Given the description of an element on the screen output the (x, y) to click on. 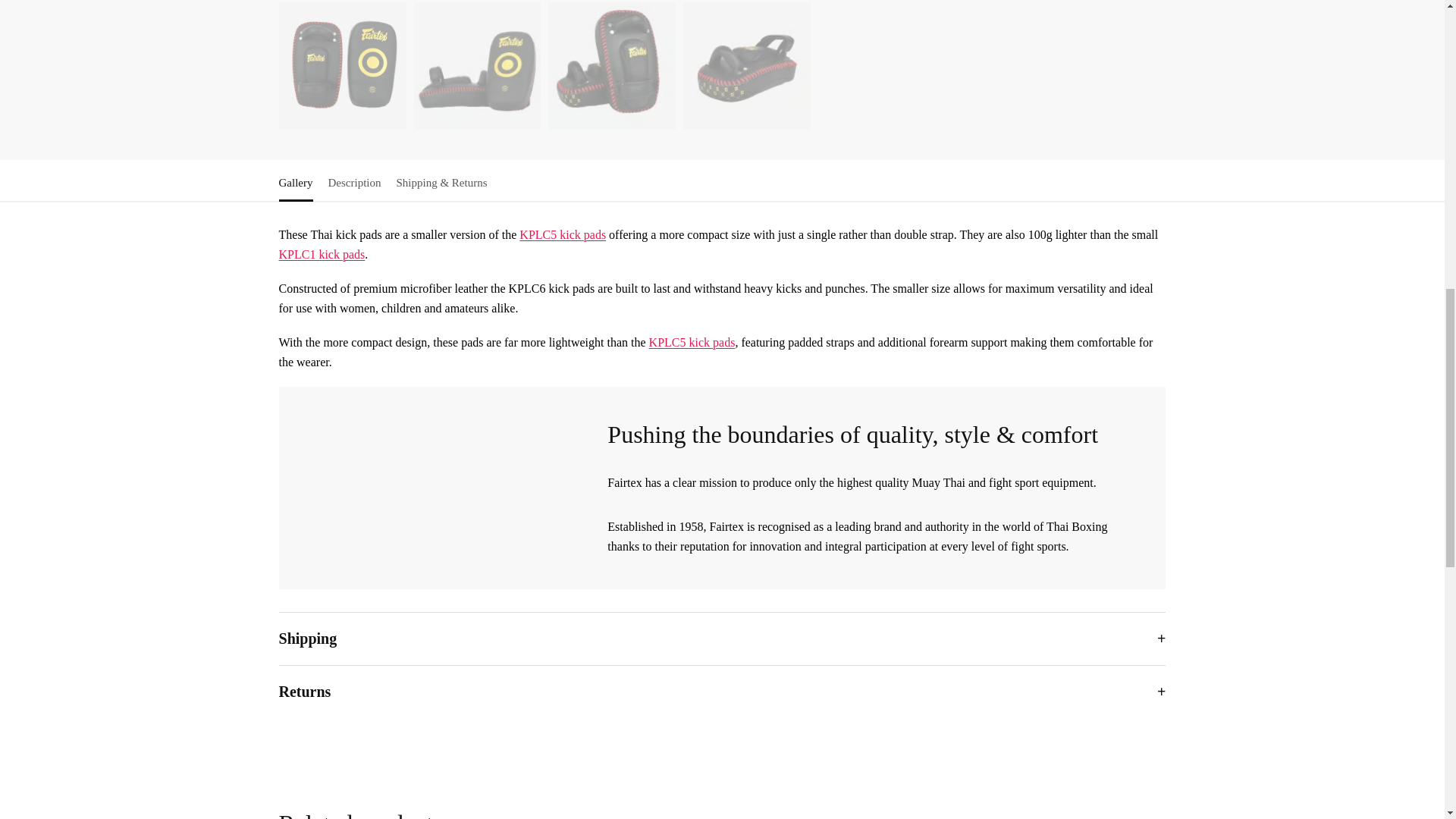
ca5c-kplc6-0-1-960x960-1 (342, 65)
a43f-kplc6-2-0-1-960x960-1 (477, 65)
d550-kplc6-4-0-1-960x960-1 (611, 65)
954c-kplc6-3-0-1-960x960-1 (746, 65)
